Given the description of an element on the screen output the (x, y) to click on. 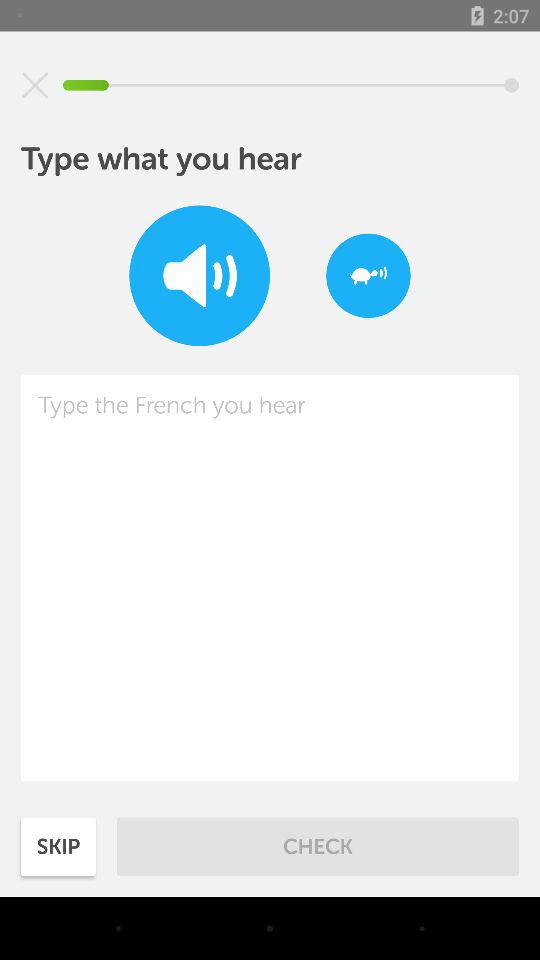
scroll until the skip (58, 846)
